Given the description of an element on the screen output the (x, y) to click on. 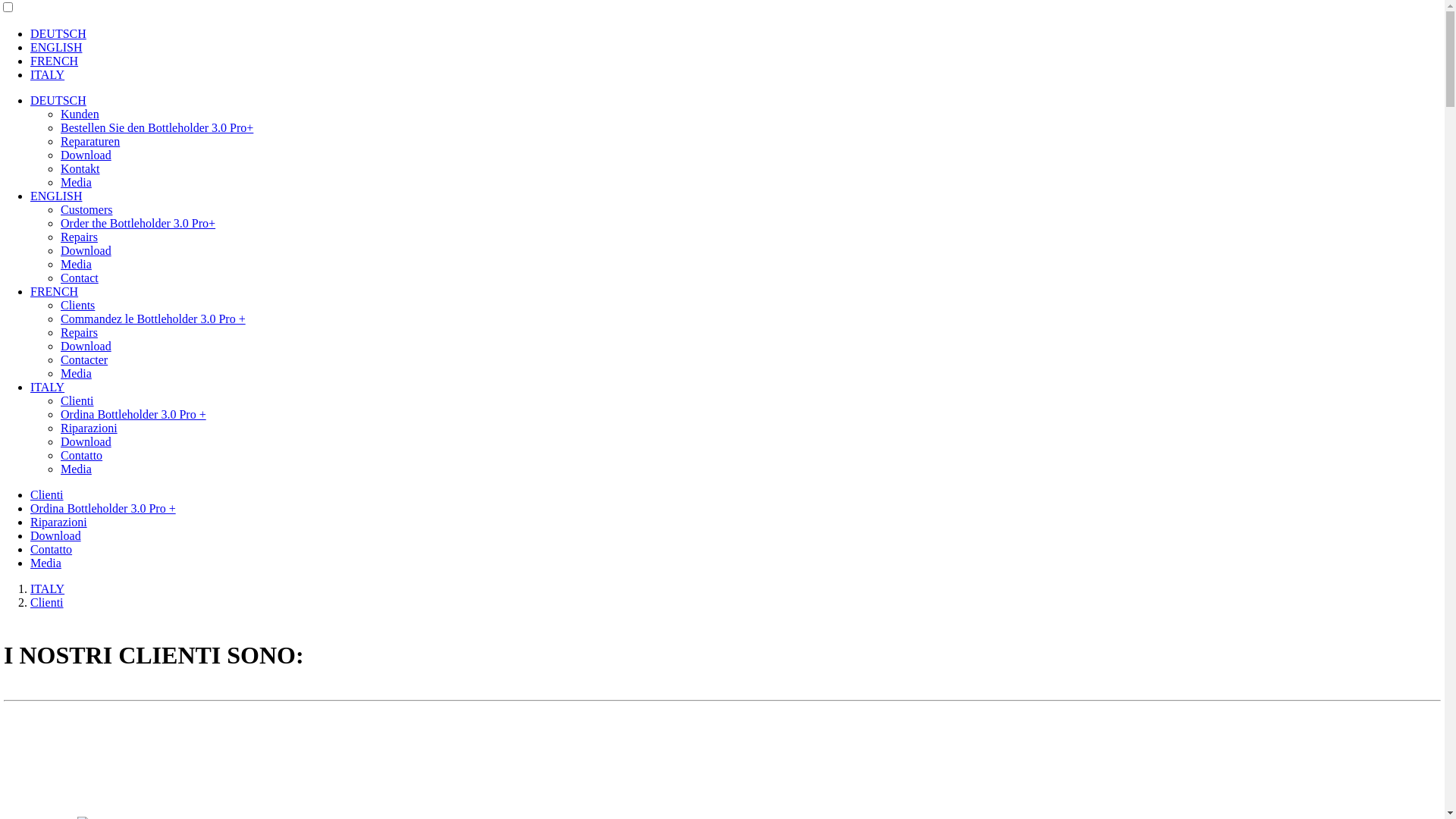
Media Element type: text (75, 263)
Contatto Element type: text (81, 454)
Bestellen Sie den Bottleholder 3.0 Pro+ Element type: text (156, 127)
Kunden Element type: text (79, 113)
Download Element type: text (85, 345)
Media Element type: text (45, 562)
Clienti Element type: text (46, 494)
Order the Bottleholder 3.0 Pro+ Element type: text (137, 222)
Download Element type: text (55, 535)
Media Element type: text (75, 181)
Contacter Element type: text (83, 359)
Repairs Element type: text (78, 332)
Clients Element type: text (77, 304)
DEUTSCH Element type: text (58, 33)
Riparazioni Element type: text (58, 521)
ITALY Element type: text (47, 588)
Clienti Element type: text (77, 400)
Repairs Element type: text (78, 236)
Media Element type: text (75, 468)
ENGLISH Element type: text (55, 46)
Download Element type: text (85, 154)
ITALY Element type: text (47, 386)
Reparaturen Element type: text (89, 140)
Media Element type: text (75, 373)
ITALY Element type: text (47, 74)
Customers Element type: text (86, 209)
Clienti Element type: text (46, 602)
Contact Element type: text (79, 277)
Riparazioni Element type: text (88, 427)
FRENCH Element type: text (54, 60)
ENGLISH Element type: text (55, 195)
Ordina Bottleholder 3.0 Pro + Element type: text (102, 508)
Contatto Element type: text (51, 548)
Download Element type: text (85, 250)
FRENCH Element type: text (54, 291)
Ordina Bottleholder 3.0 Pro + Element type: text (133, 413)
Commandez le Bottleholder 3.0 Pro + Element type: text (152, 318)
Download Element type: text (85, 441)
Kontakt Element type: text (80, 168)
DEUTSCH Element type: text (58, 100)
